Given the description of an element on the screen output the (x, y) to click on. 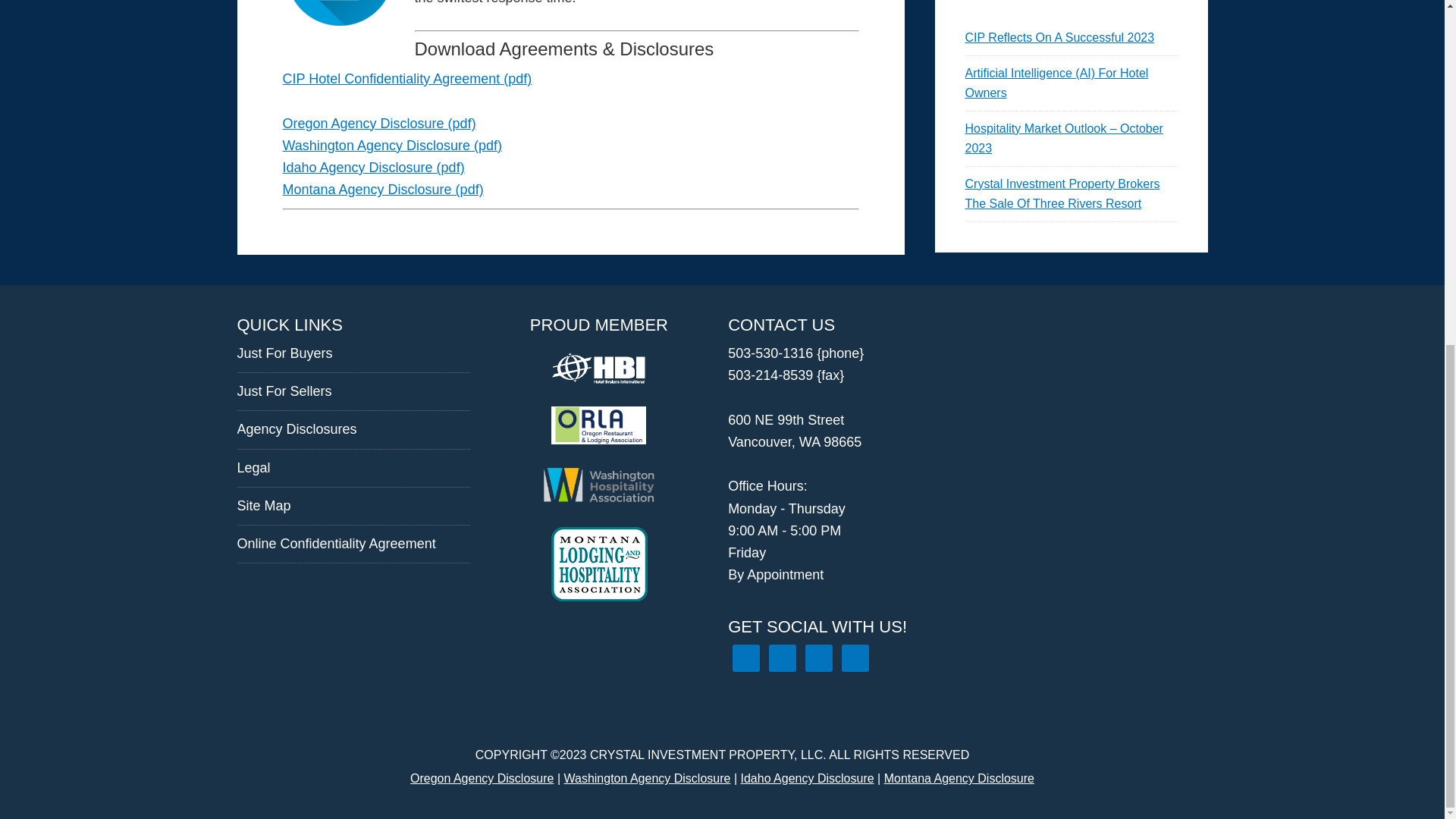
ORLA (598, 425)
Washington Hospitality Association (598, 484)
Montana Lodging and Hospitality Association Logo (598, 563)
